Given the description of an element on the screen output the (x, y) to click on. 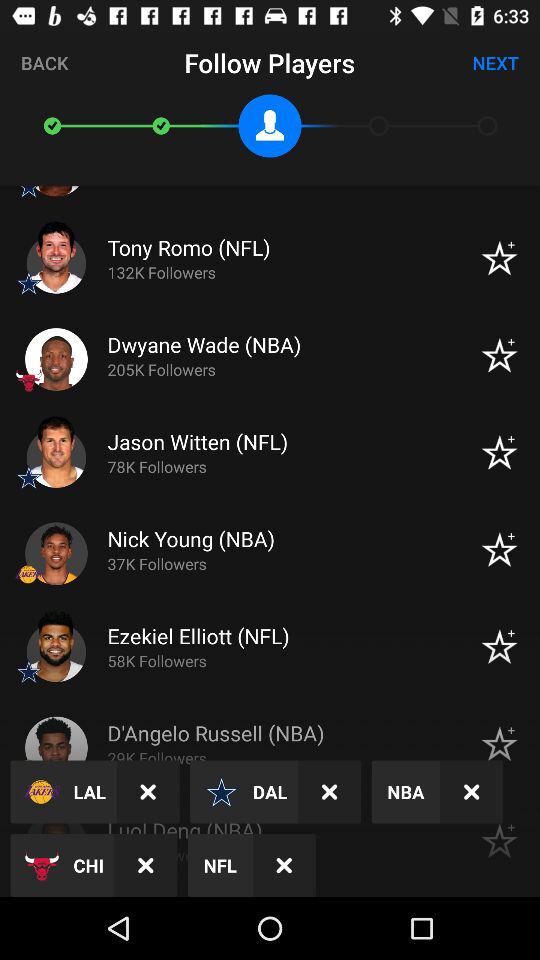
select the icon next to follow players item (44, 62)
